Given the description of an element on the screen output the (x, y) to click on. 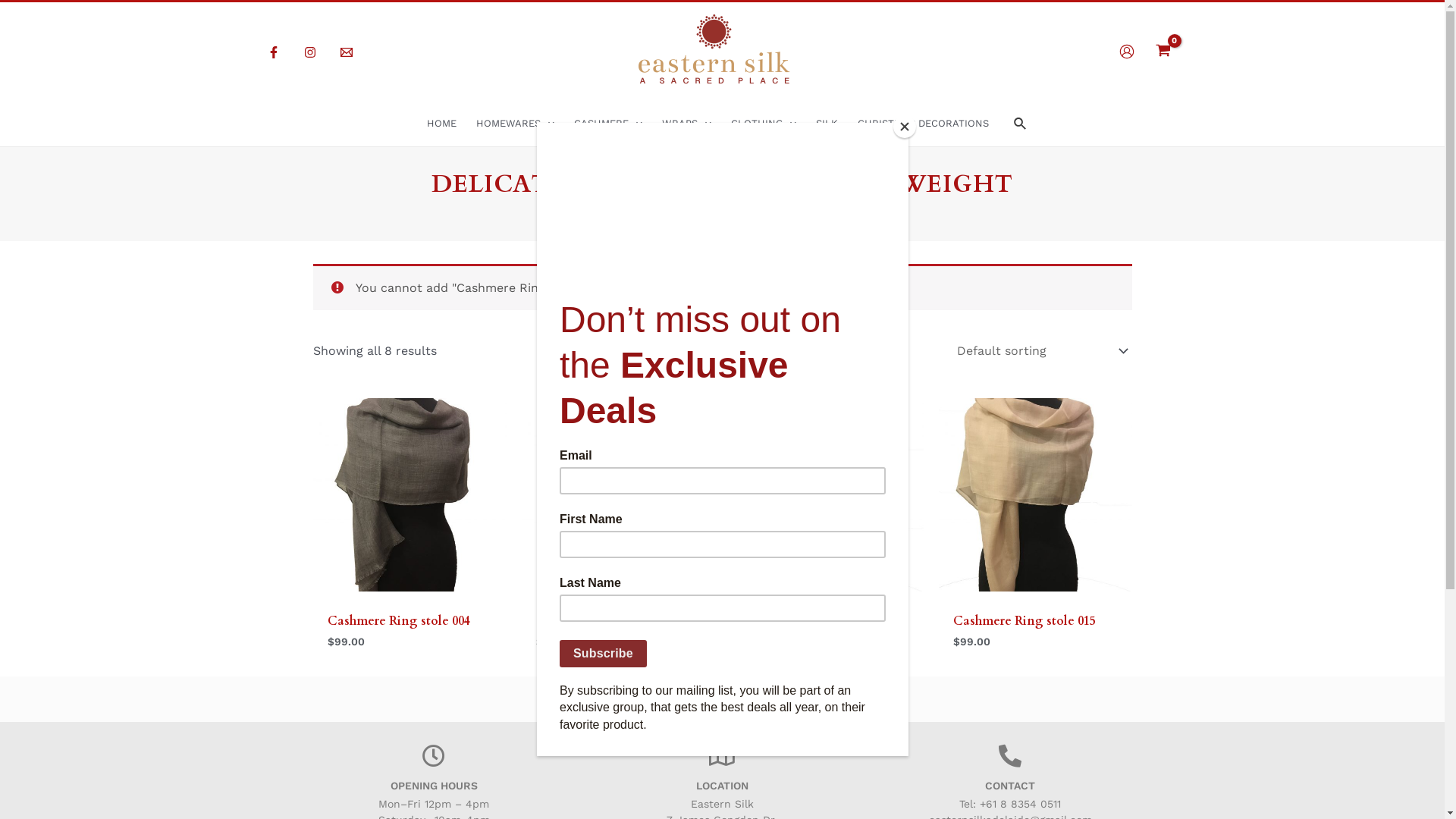
Cashmere Ring stole 004 Element type: text (398, 624)
Cashmere Ring stole 015 Element type: text (1024, 624)
Cashmere Ring stole 011 Element type: text (815, 624)
HOME Element type: text (441, 123)
Home Element type: text (637, 207)
HOMEWARES Element type: text (515, 123)
SILK Element type: text (826, 123)
CLOTHING Element type: text (763, 123)
Cashmere Ring stole 005 Element type: text (607, 624)
WRAPS Element type: text (686, 123)
LOCATION Element type: text (722, 785)
CASHMERE Element type: text (608, 123)
CHRISTMAS DECORATIONS Element type: text (922, 123)
